Given the description of an element on the screen output the (x, y) to click on. 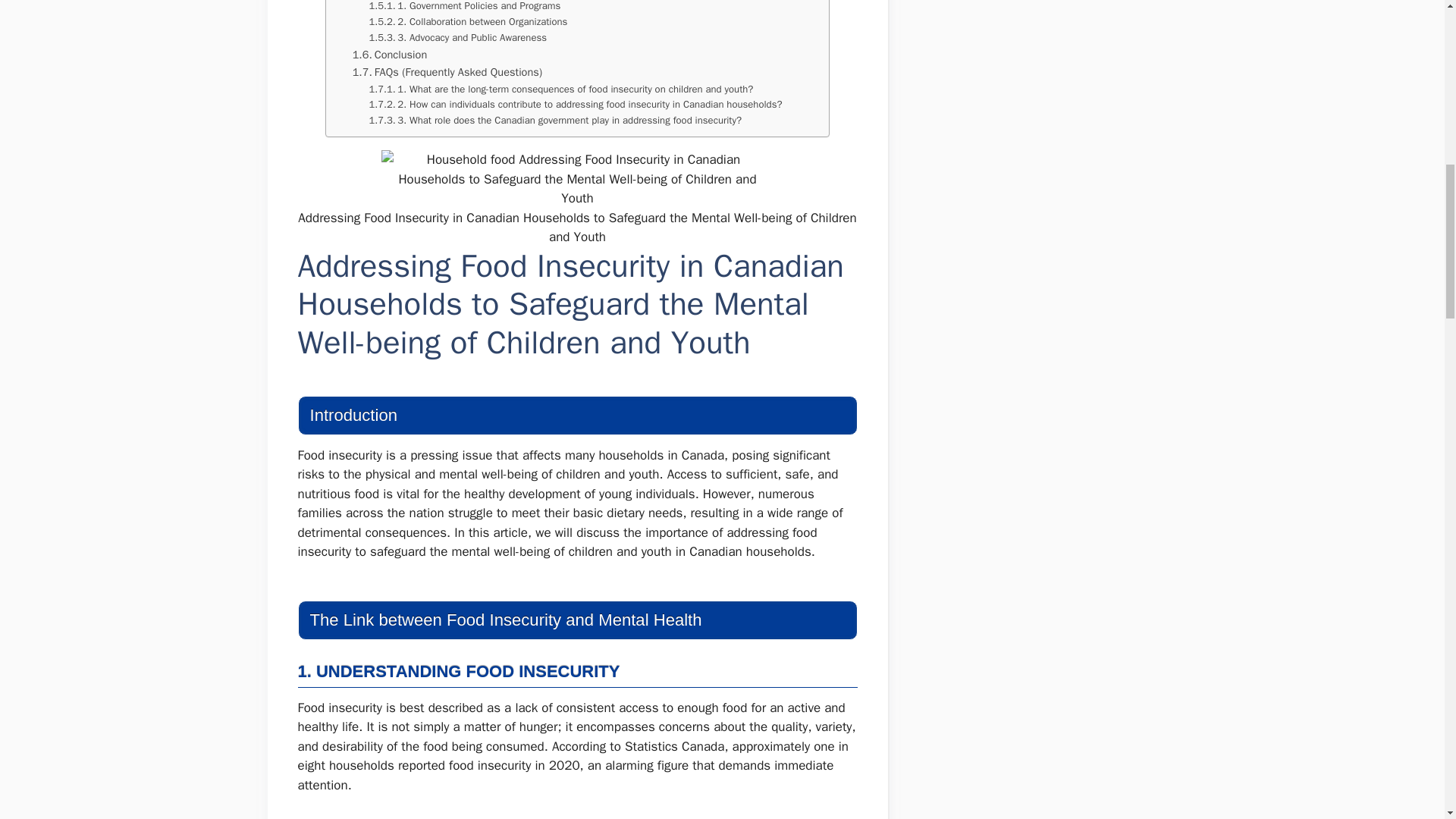
1. Government Policies and Programs (464, 7)
2. Collaboration between Organizations (467, 22)
Conclusion (390, 54)
3. Advocacy and Public Awareness (457, 37)
